Given the description of an element on the screen output the (x, y) to click on. 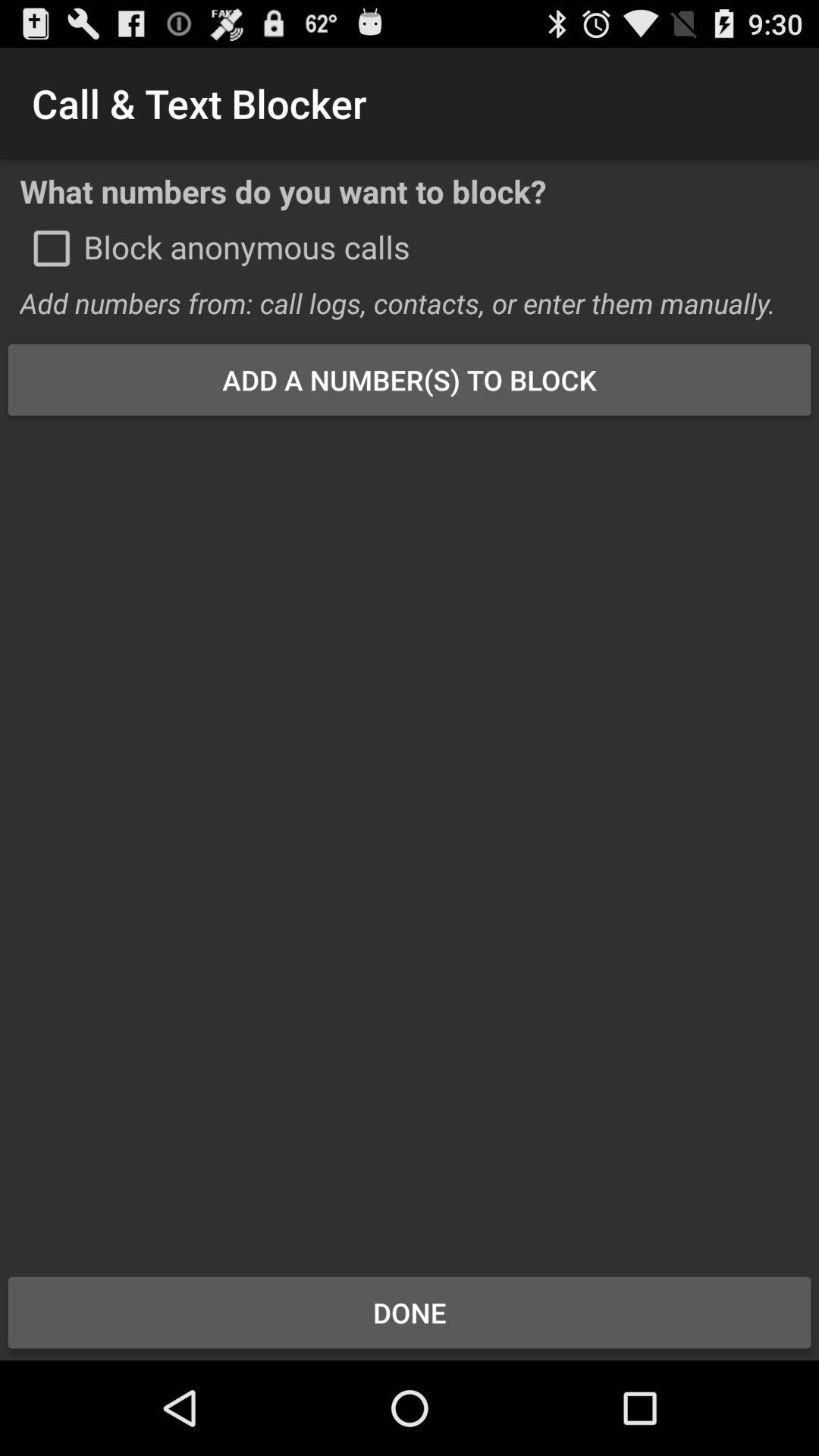
choose the app below add numbers from icon (409, 379)
